Given the description of an element on the screen output the (x, y) to click on. 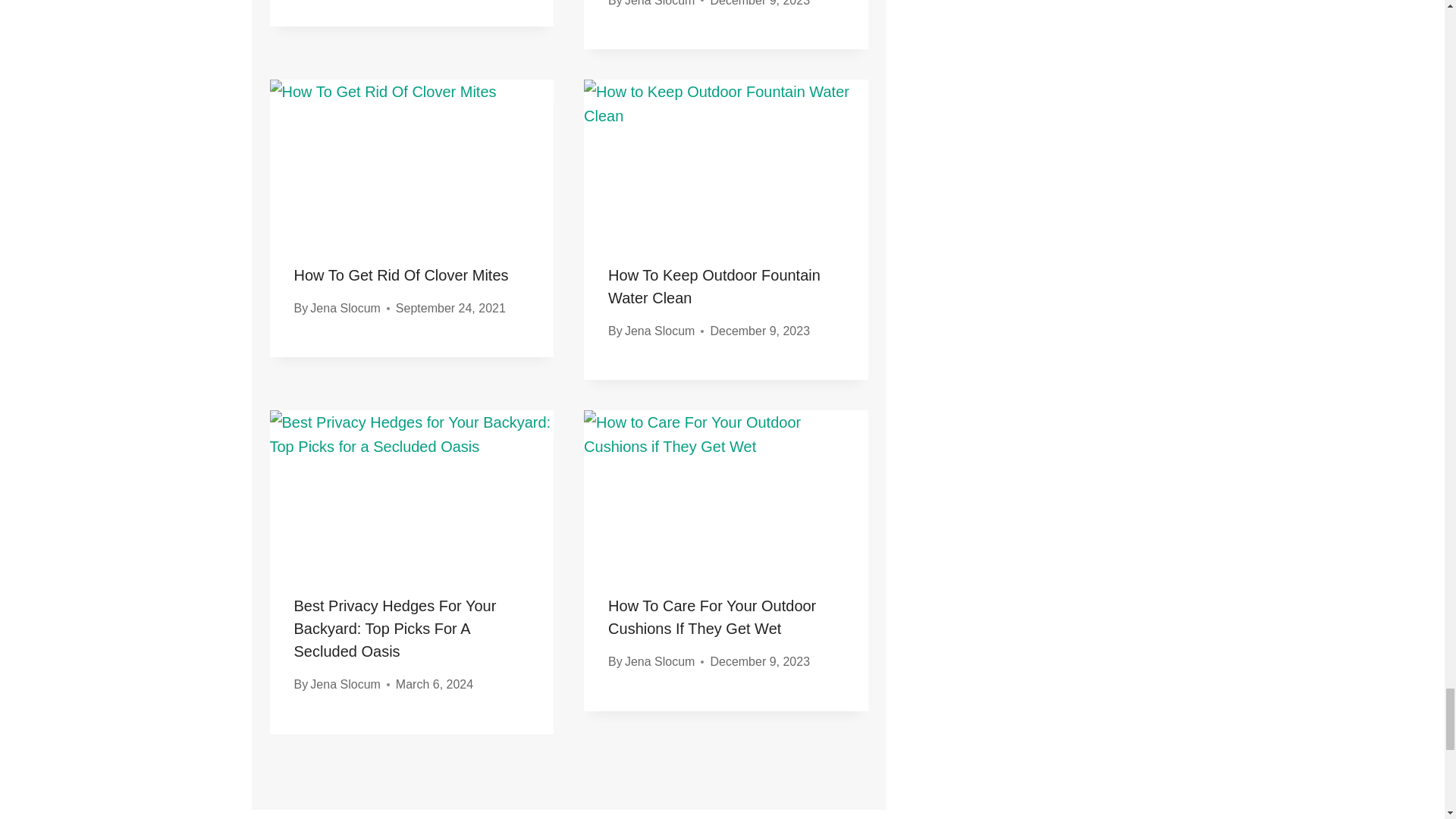
How To Get Rid Of Clover Mites (401, 274)
Jena Slocum (345, 308)
Jena Slocum (659, 3)
